Given the description of an element on the screen output the (x, y) to click on. 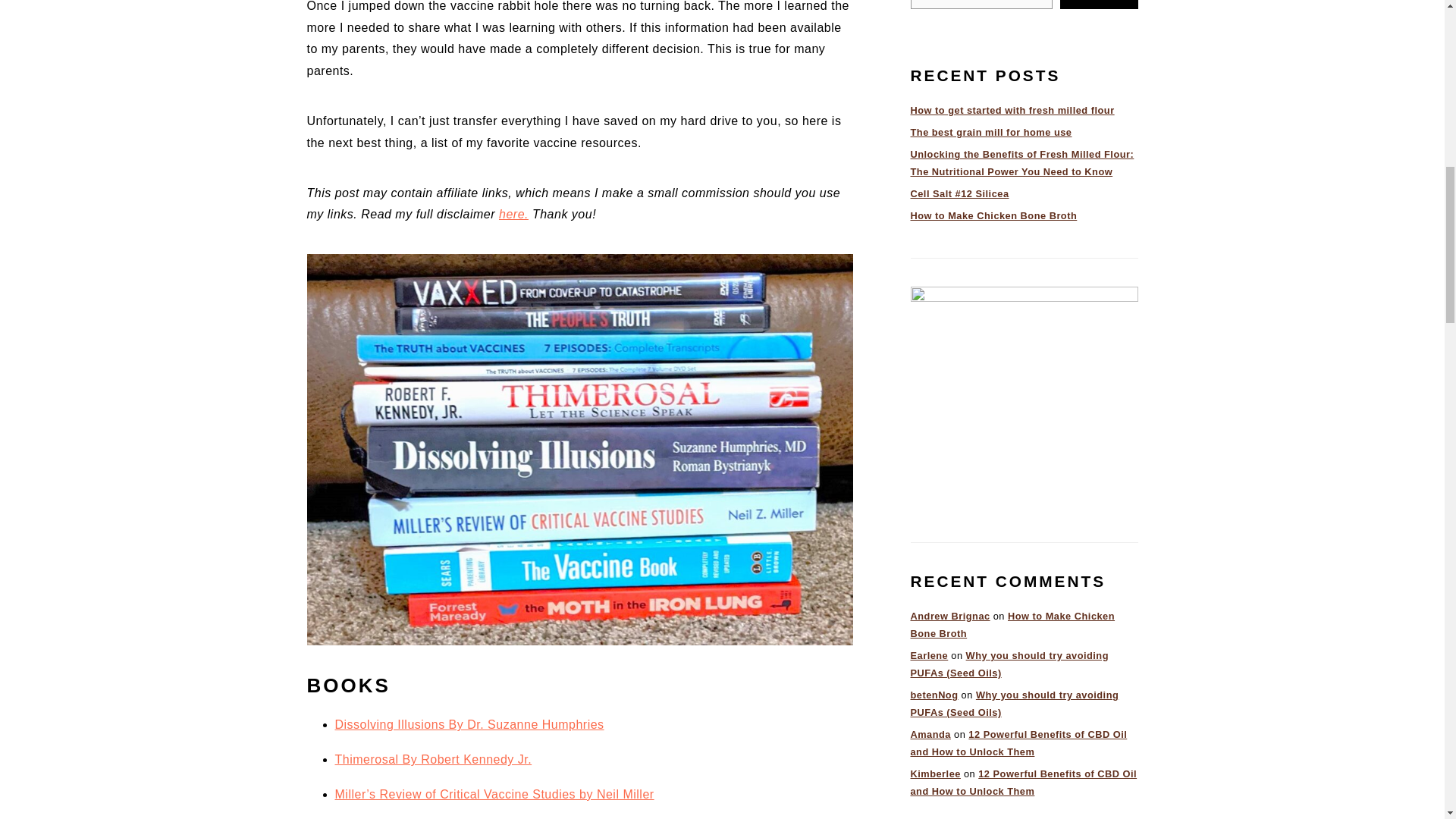
Thimerosal By Robert Kennedy Jr. (433, 758)
Dissolving Illusions By Dr. Suzanne Humphries (469, 724)
here. (513, 214)
